Given the description of an element on the screen output the (x, y) to click on. 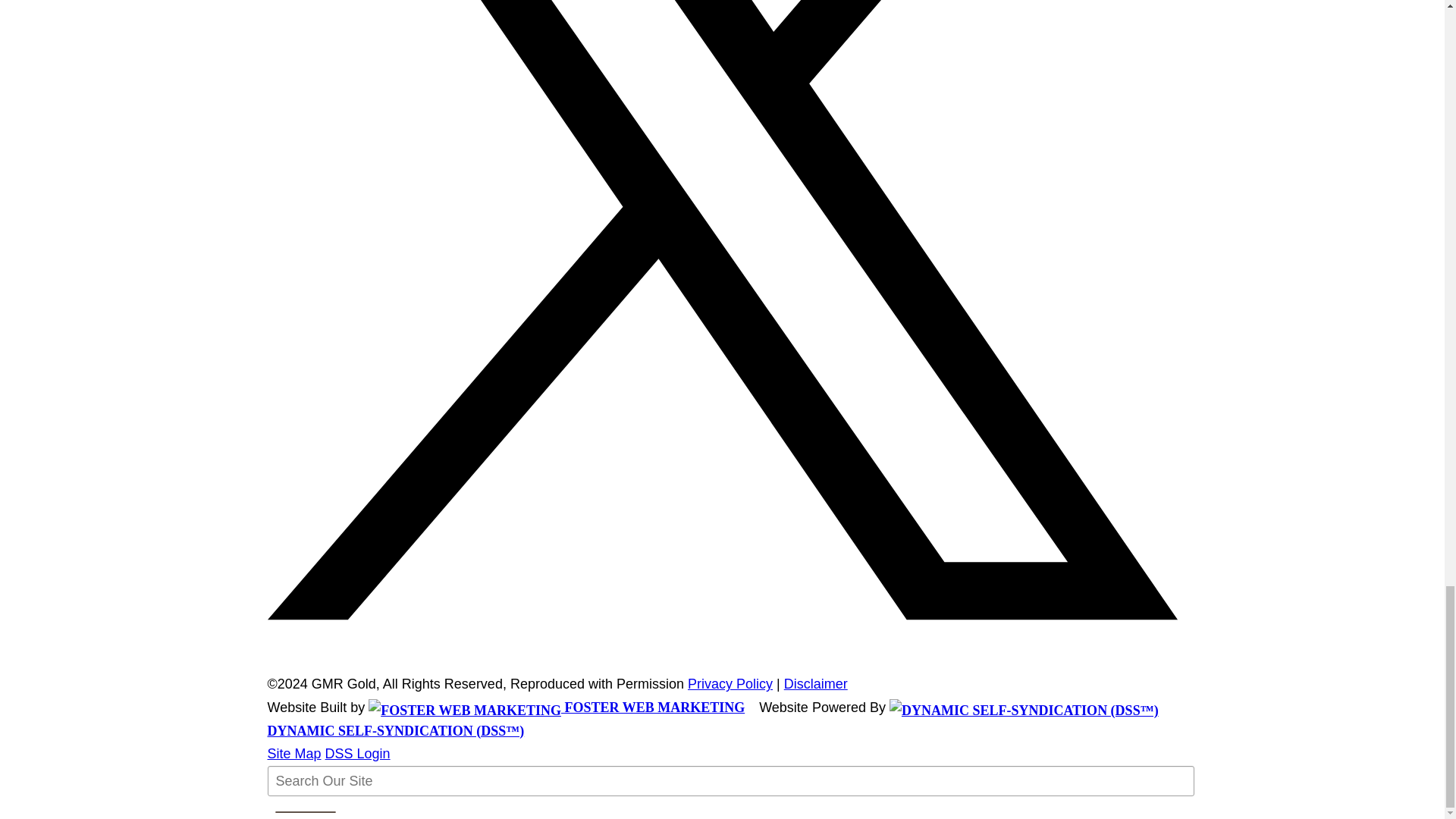
Search (304, 812)
